Given the description of an element on the screen output the (x, y) to click on. 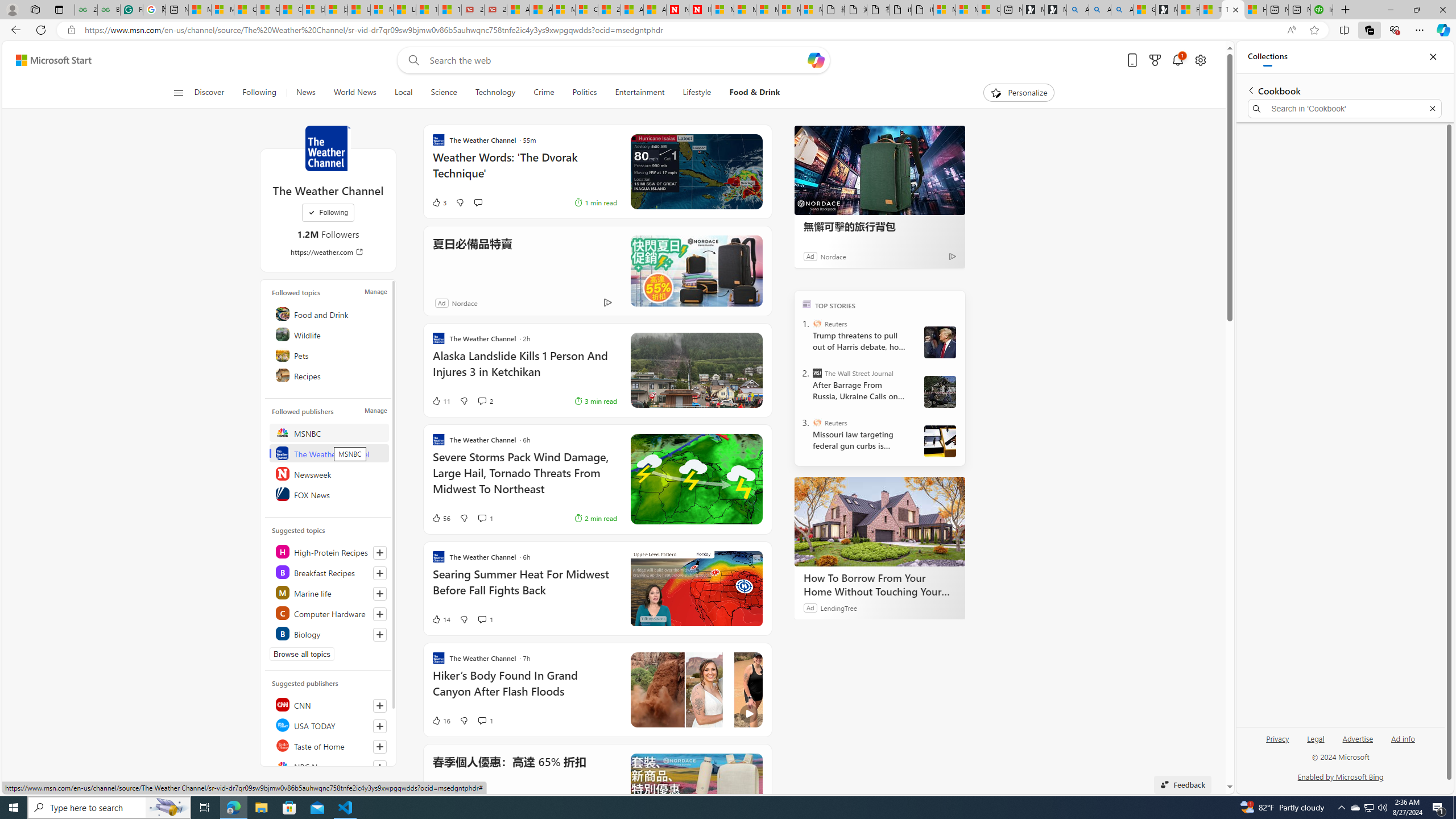
56 Like (440, 517)
TOP (806, 302)
Alabama high school quarterback dies - Search (1077, 9)
